Given the description of an element on the screen output the (x, y) to click on. 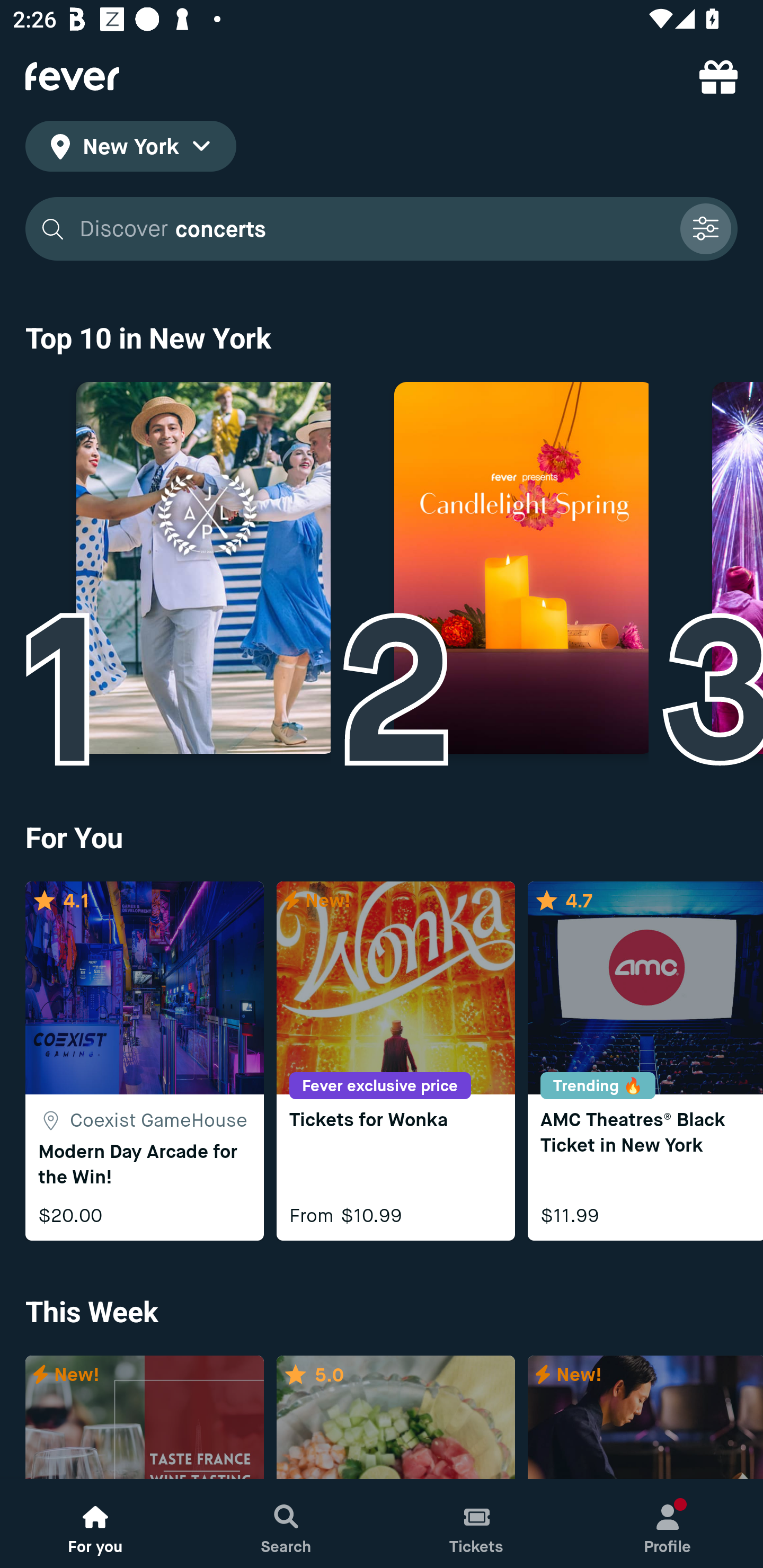
referral (718, 75)
location icon New York location icon (130, 149)
Discover concerts (381, 228)
Discover concerts (373, 228)
cover image New! label New! (144, 1417)
cover image 50.0 5.0 (395, 1417)
cover image New! label New! (645, 1417)
Search (285, 1523)
Tickets (476, 1523)
Profile, New notification Profile (667, 1523)
